Given the description of an element on the screen output the (x, y) to click on. 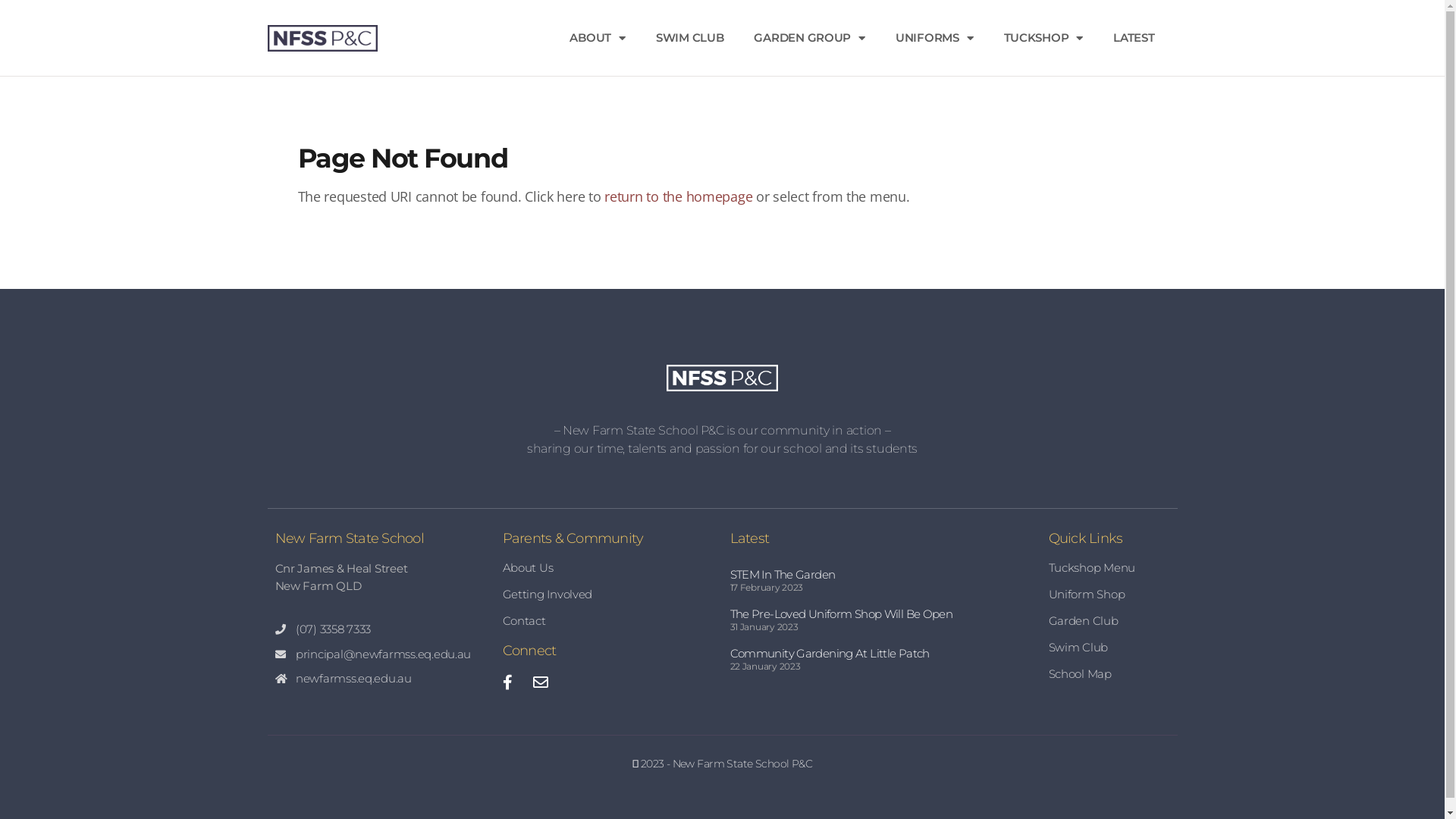
Swim Club Element type: text (1108, 647)
principal@newfarmss.eq.edu.au Element type: text (380, 654)
(07) 3358 7333 Element type: text (380, 629)
Uniform Shop Element type: text (1108, 594)
UNIFORMS Element type: text (934, 37)
TUCKSHOP Element type: text (1043, 37)
The Pre-Loved Uniform Shop Will Be Open Element type: text (840, 613)
return to the homepage Element type: text (678, 196)
LATEST Element type: text (1133, 37)
Contact Element type: text (608, 620)
newfarmss.eq.edu.au Element type: text (380, 678)
School Map Element type: text (1108, 673)
STEM In The Garden Element type: text (781, 574)
About Us Element type: text (608, 567)
GARDEN GROUP Element type: text (809, 37)
Community Gardening At Little Patch Element type: text (828, 653)
Tuckshop Menu Element type: text (1108, 567)
ABOUT Element type: text (597, 37)
Getting Involved Element type: text (608, 594)
SWIM CLUB Element type: text (689, 37)
Garden Club Element type: text (1108, 620)
